Given the description of an element on the screen output the (x, y) to click on. 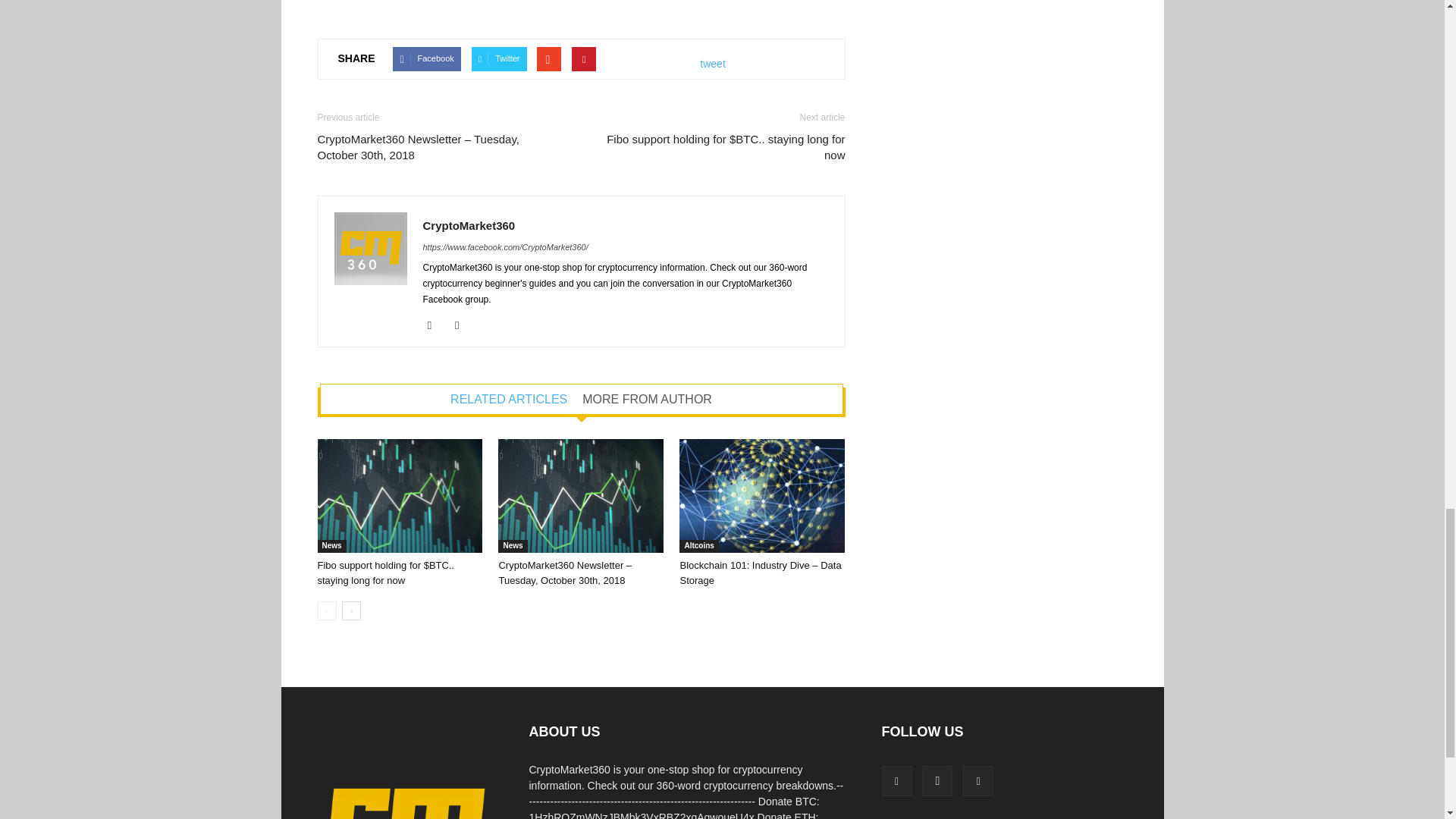
Facebook (435, 325)
Twitter (462, 325)
